Given the description of an element on the screen output the (x, y) to click on. 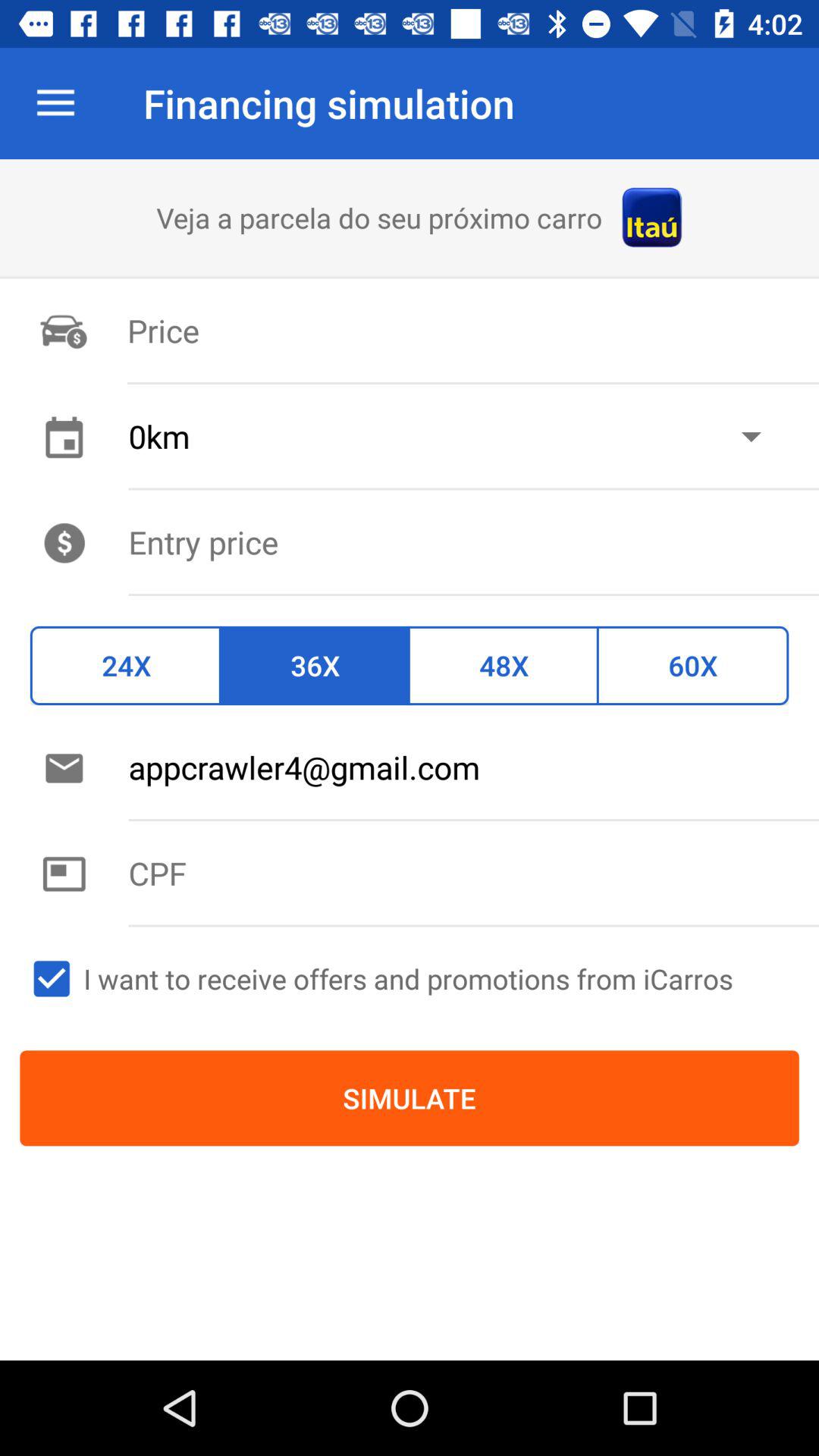
cpf number text input field (473, 872)
